Given the description of an element on the screen output the (x, y) to click on. 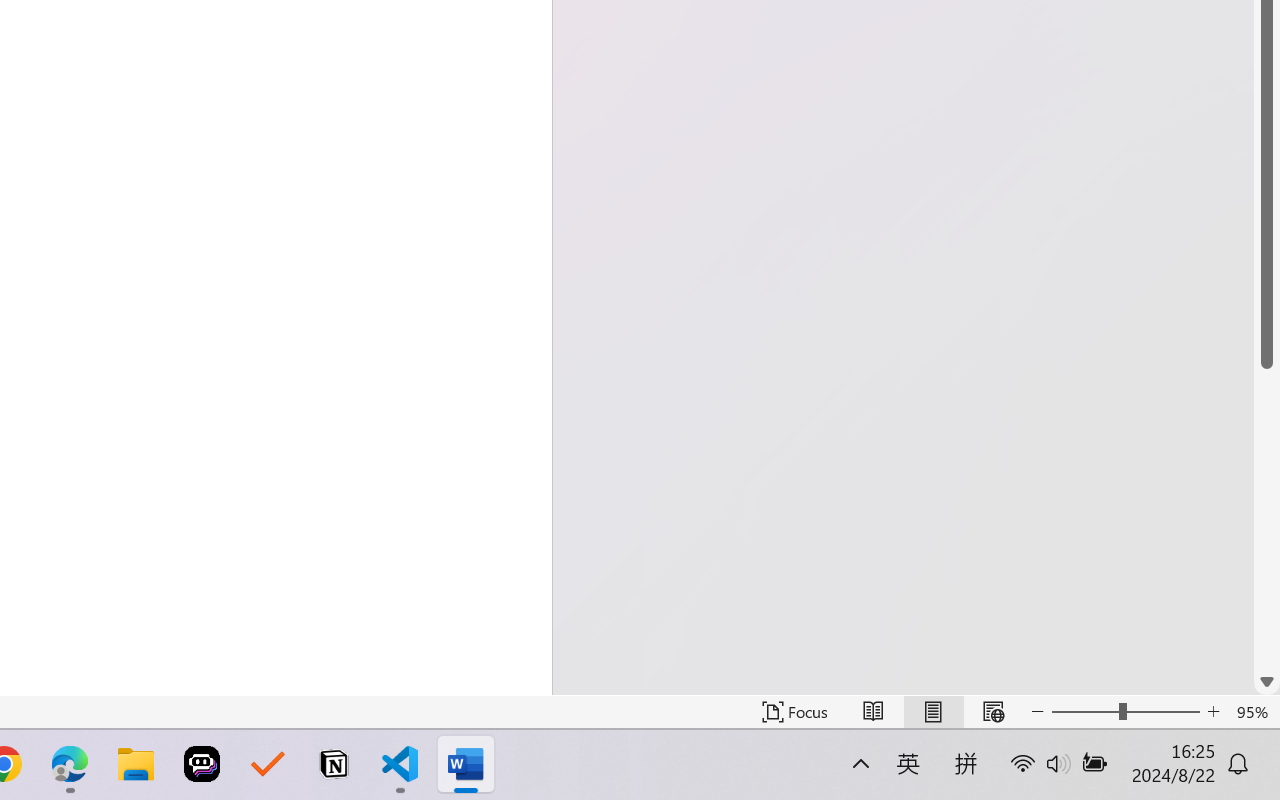
Line down (1267, 681)
Zoom 95% (1253, 712)
Page down (1267, 518)
